Given the description of an element on the screen output the (x, y) to click on. 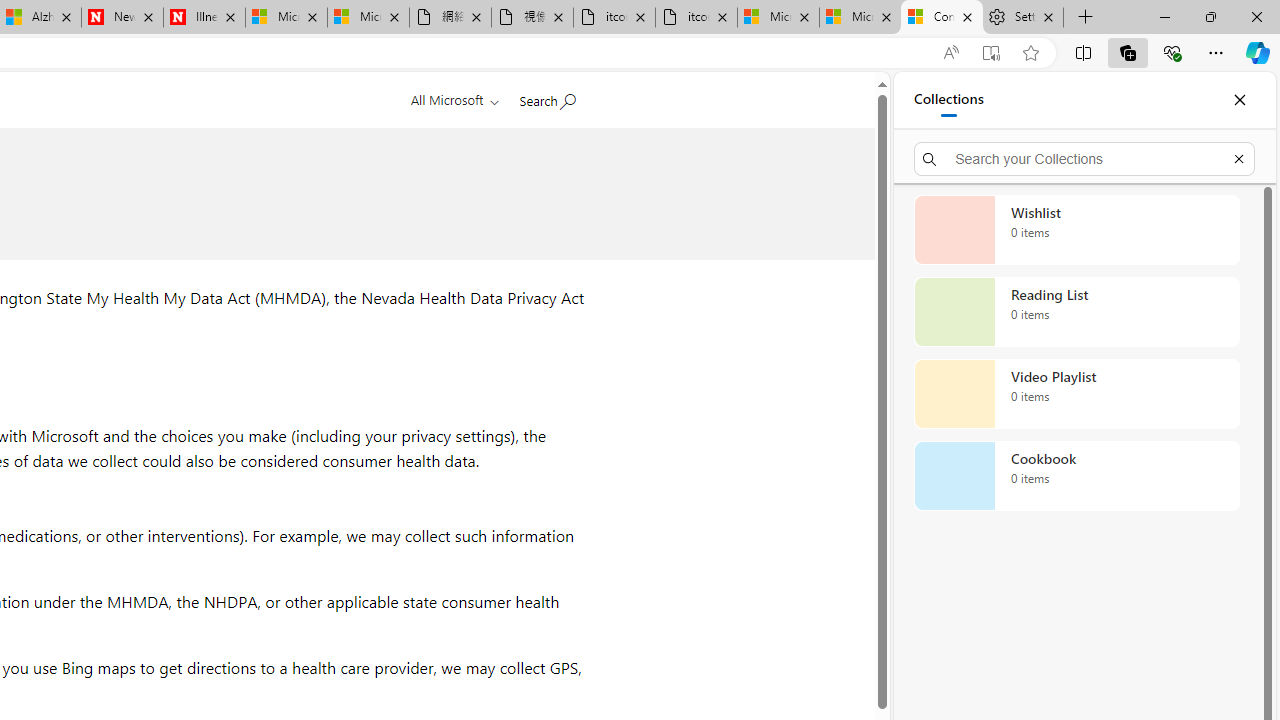
Reading List collection, 0 items (1076, 312)
Consumer Health Data Privacy Policy (941, 17)
Exit search (1238, 158)
Wishlist collection, 0 items (1076, 229)
Cookbook collection, 0 items (1076, 475)
itconcepthk.com/projector_solutions.mp4 (696, 17)
Search Microsoft.com (546, 97)
